Given the description of an element on the screen output the (x, y) to click on. 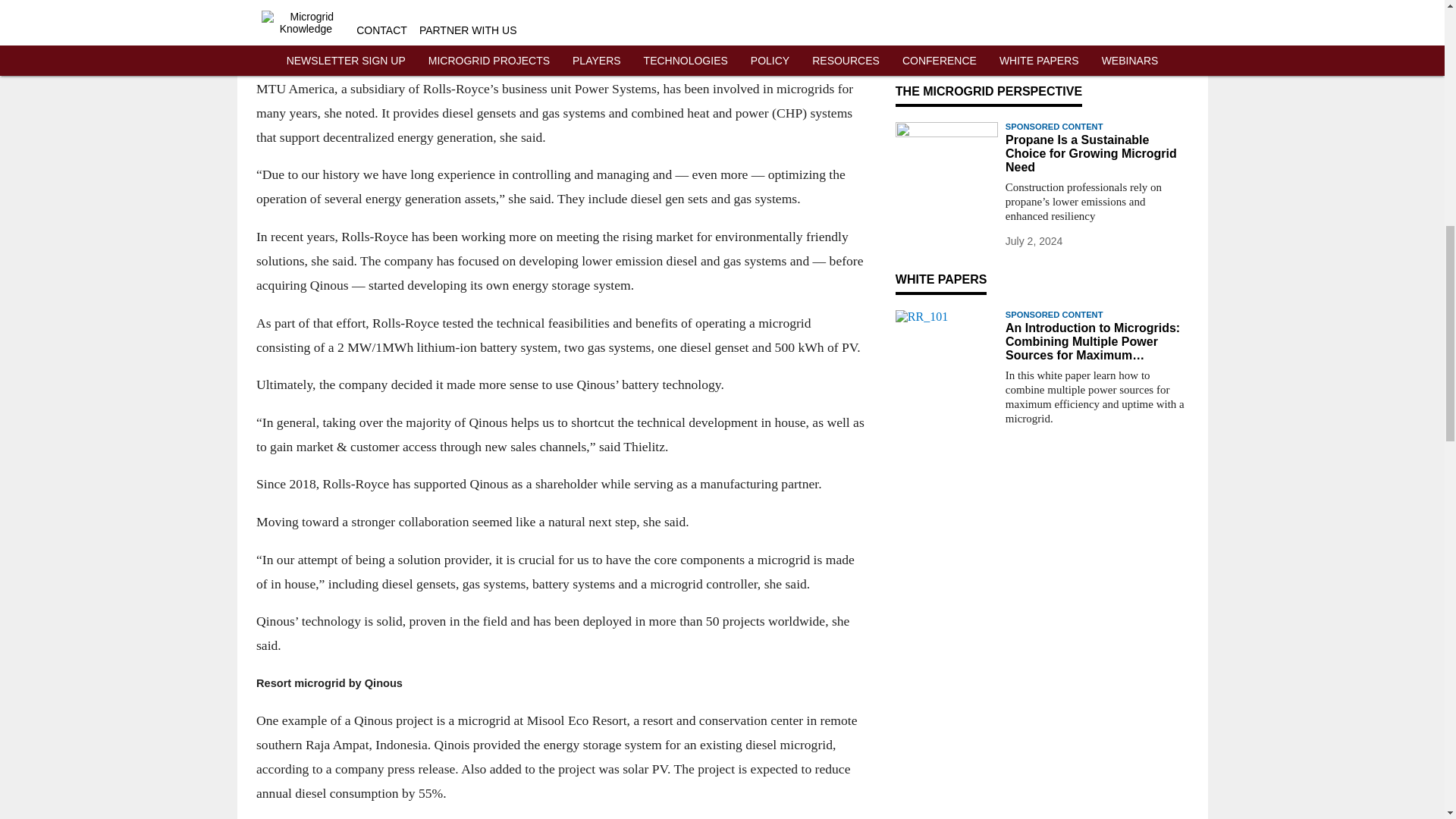
THE MICROGRID PERSPECTIVE (988, 91)
European Green Deal (476, 26)
